Given the description of an element on the screen output the (x, y) to click on. 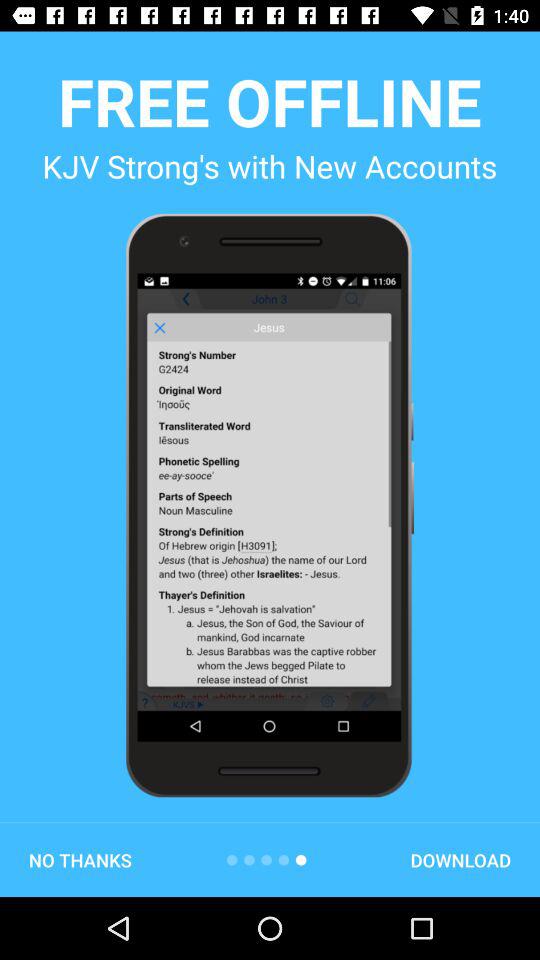
choose the item at the bottom left corner (80, 859)
